Given the description of an element on the screen output the (x, y) to click on. 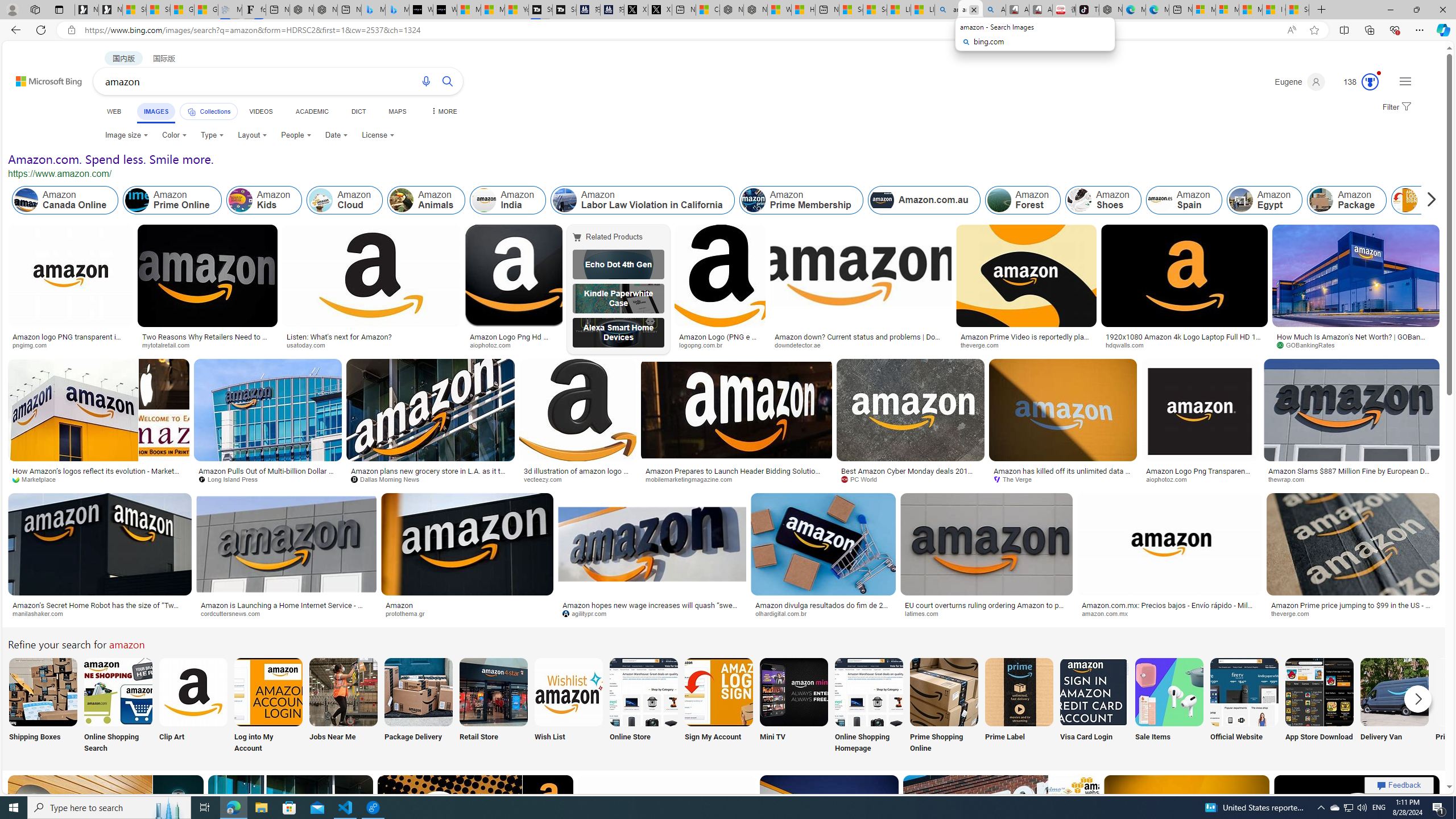
Amazon Log into My Account (268, 691)
Scroll more suggestions right (1418, 698)
DICT (357, 111)
Retail Store (493, 706)
Amazon Prime Membership (753, 200)
Amazon Canada Online (65, 199)
Amazon Animals (401, 200)
Dallas Morning News (429, 479)
theverge.com (1294, 612)
Amazon Shoes (1079, 200)
MAPS (397, 111)
